Given the description of an element on the screen output the (x, y) to click on. 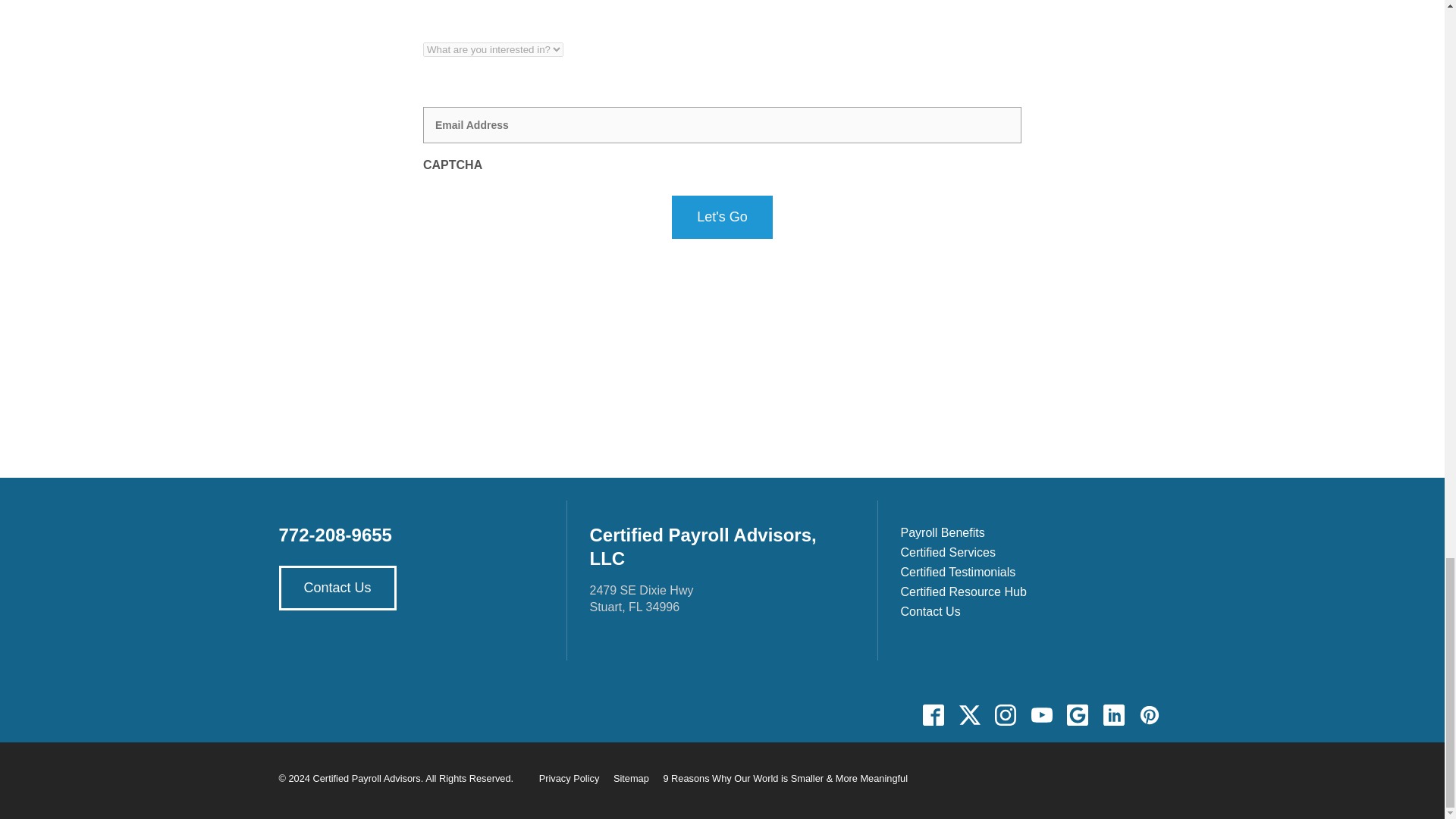
facebook (933, 714)
google (1077, 714)
linkedin (1113, 714)
twitter (969, 714)
pinterest (1149, 714)
Let's Go (721, 217)
instagram (1006, 714)
youtube (1041, 714)
